Given the description of an element on the screen output the (x, y) to click on. 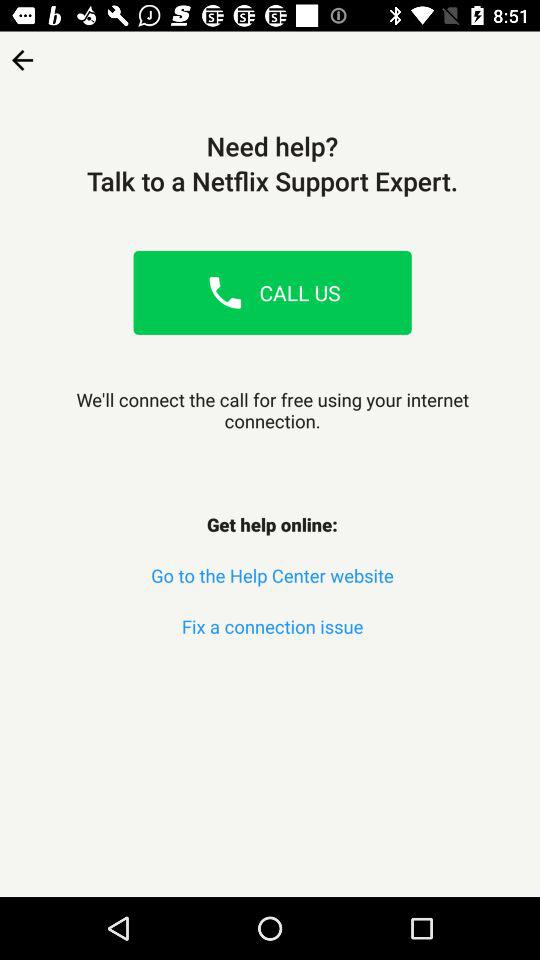
open icon below talk to a item (225, 292)
